Given the description of an element on the screen output the (x, y) to click on. 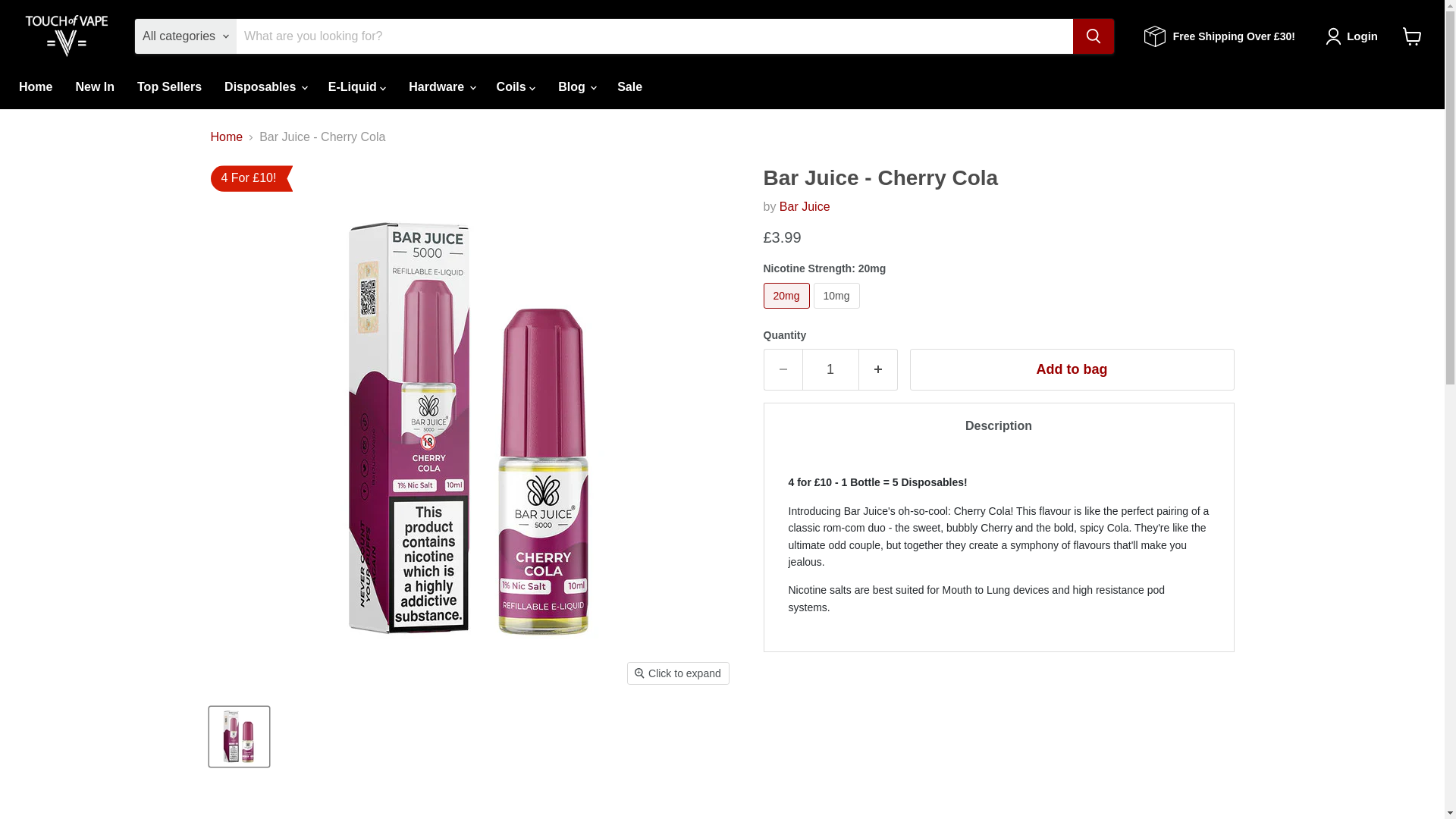
Login (1354, 36)
View cart (1411, 36)
Bar Juice (803, 205)
Top Sellers (168, 87)
Home (35, 87)
1 (830, 369)
New In (94, 87)
